Given the description of an element on the screen output the (x, y) to click on. 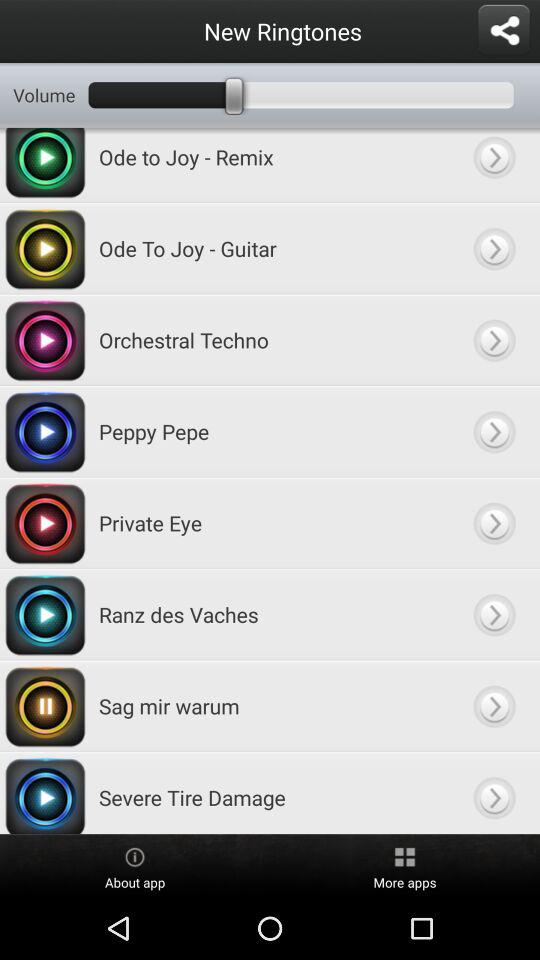
go to share (503, 31)
